Given the description of an element on the screen output the (x, y) to click on. 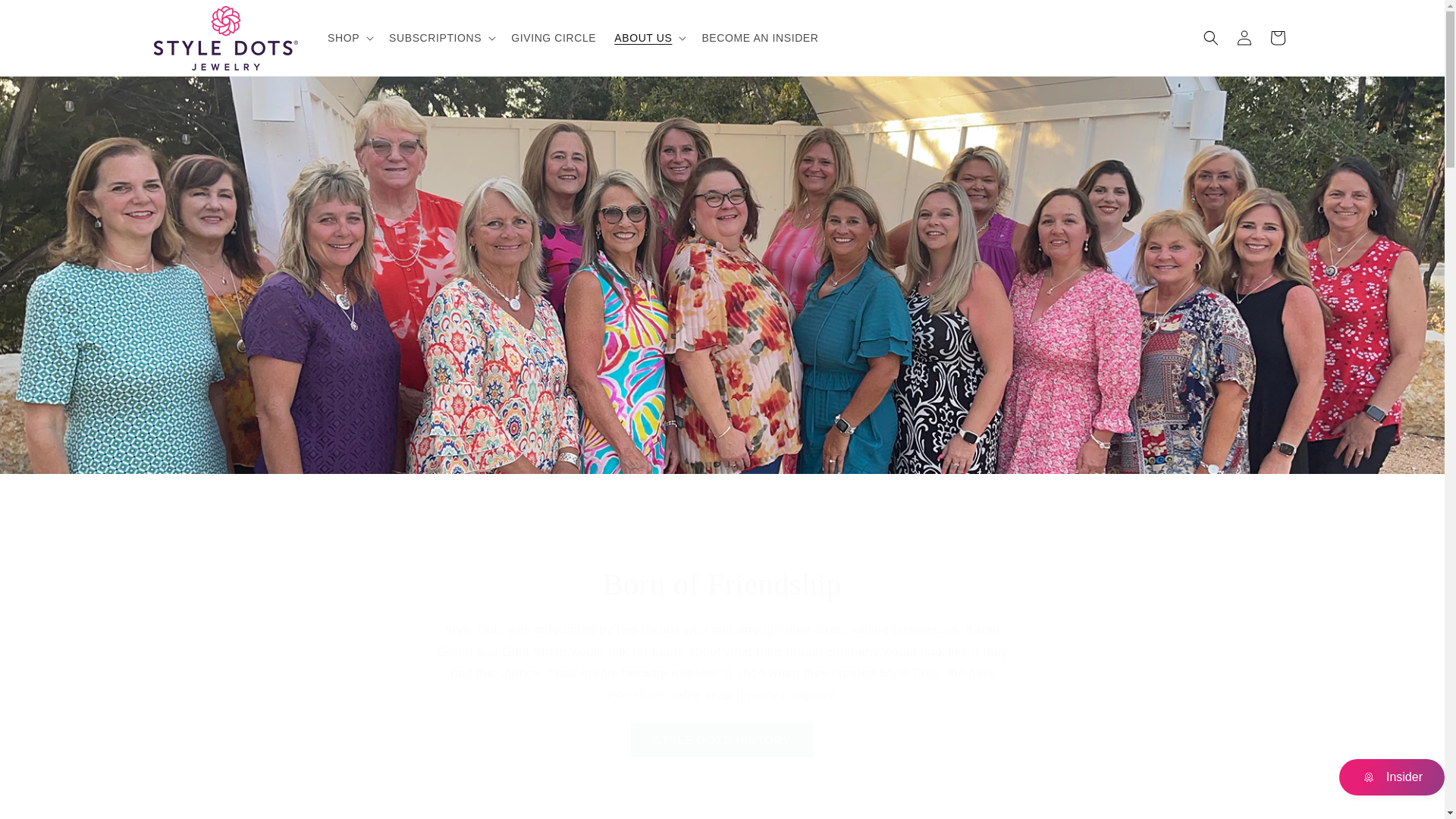
STYLE DOTS HISTORY (722, 739)
BON Loyalty (1368, 776)
Born of Friendship (721, 584)
Skip to content (45, 17)
